Given the description of an element on the screen output the (x, y) to click on. 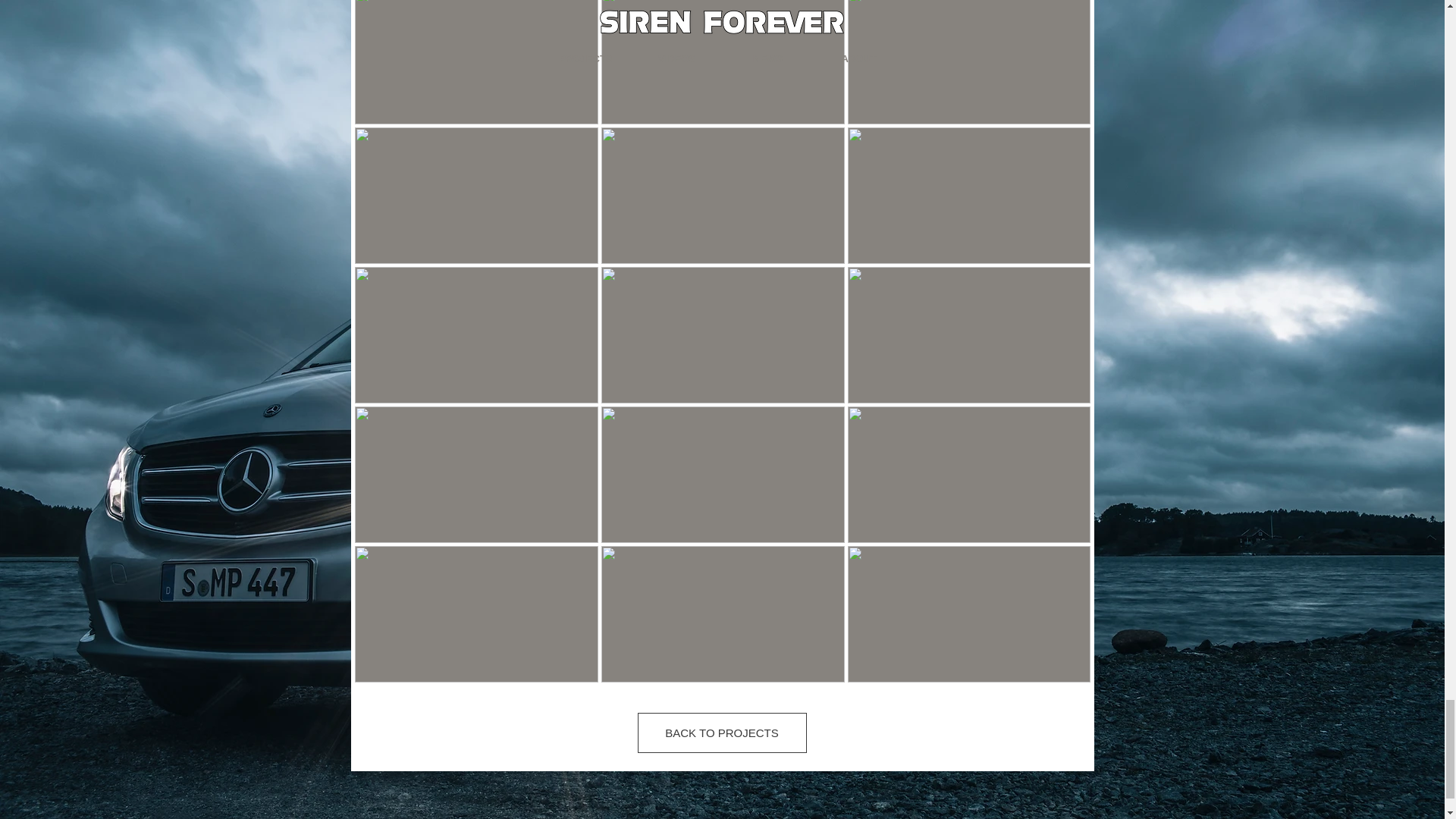
BACK TO PROJECTS (721, 732)
